Given the description of an element on the screen output the (x, y) to click on. 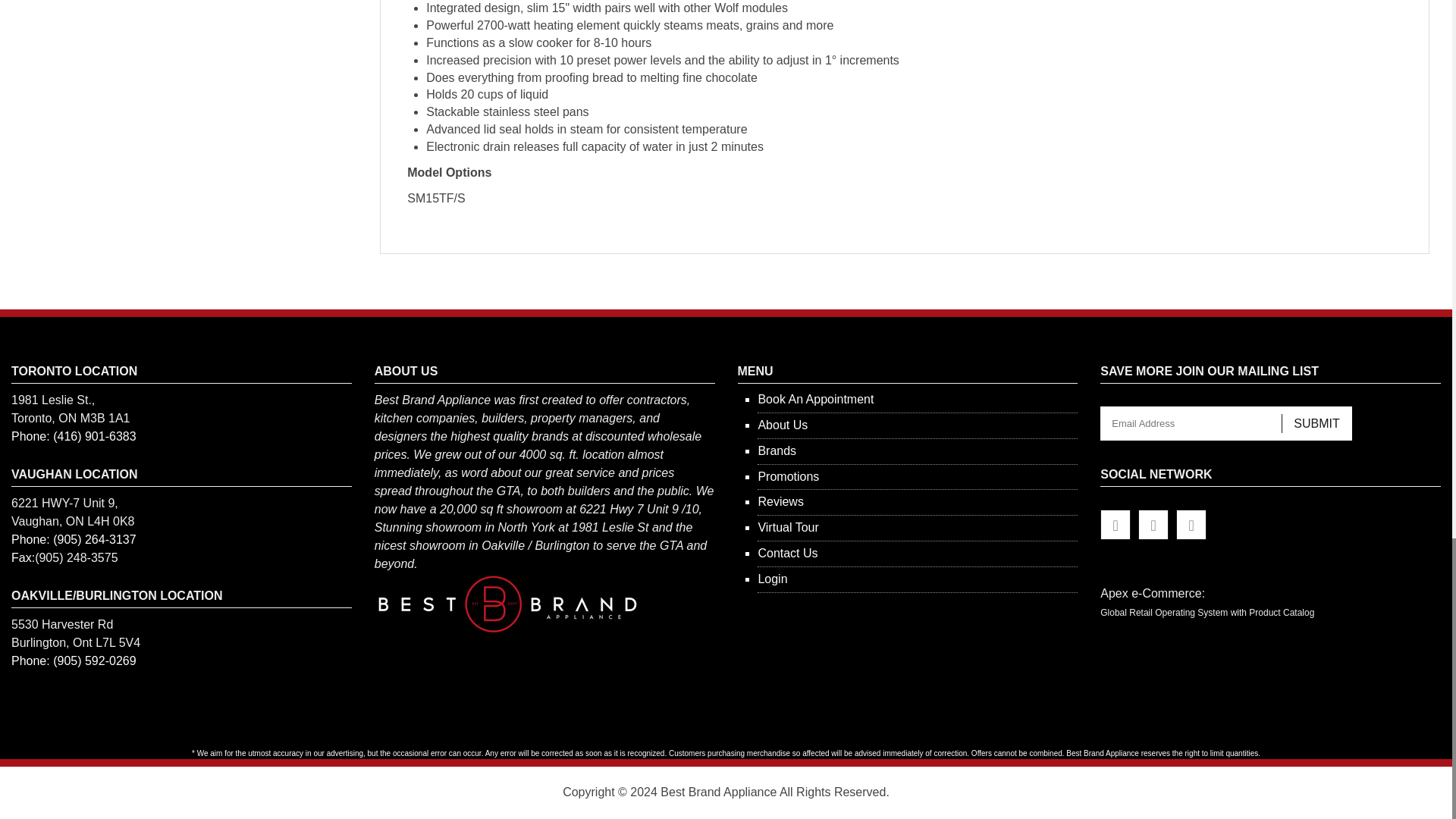
submit (1316, 423)
